Given the description of an element on the screen output the (x, y) to click on. 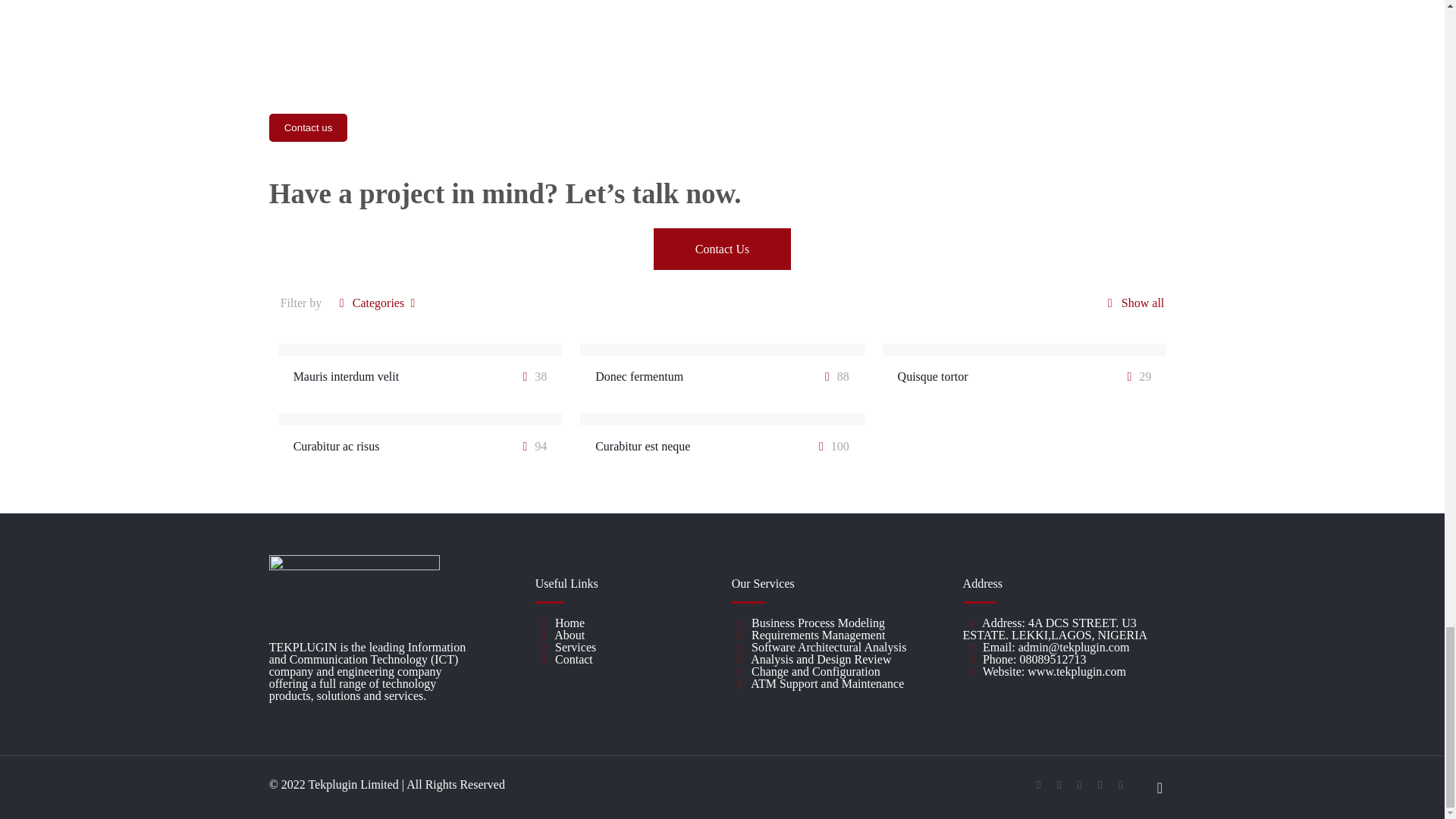
Facebook (1038, 784)
Contact Us (722, 249)
View All (721, 2)
Instagram (1120, 784)
Categories (378, 302)
Contact us (308, 127)
LinkedIn (1100, 784)
Show all (1131, 302)
Twitter (1079, 784)
